Given the description of an element on the screen output the (x, y) to click on. 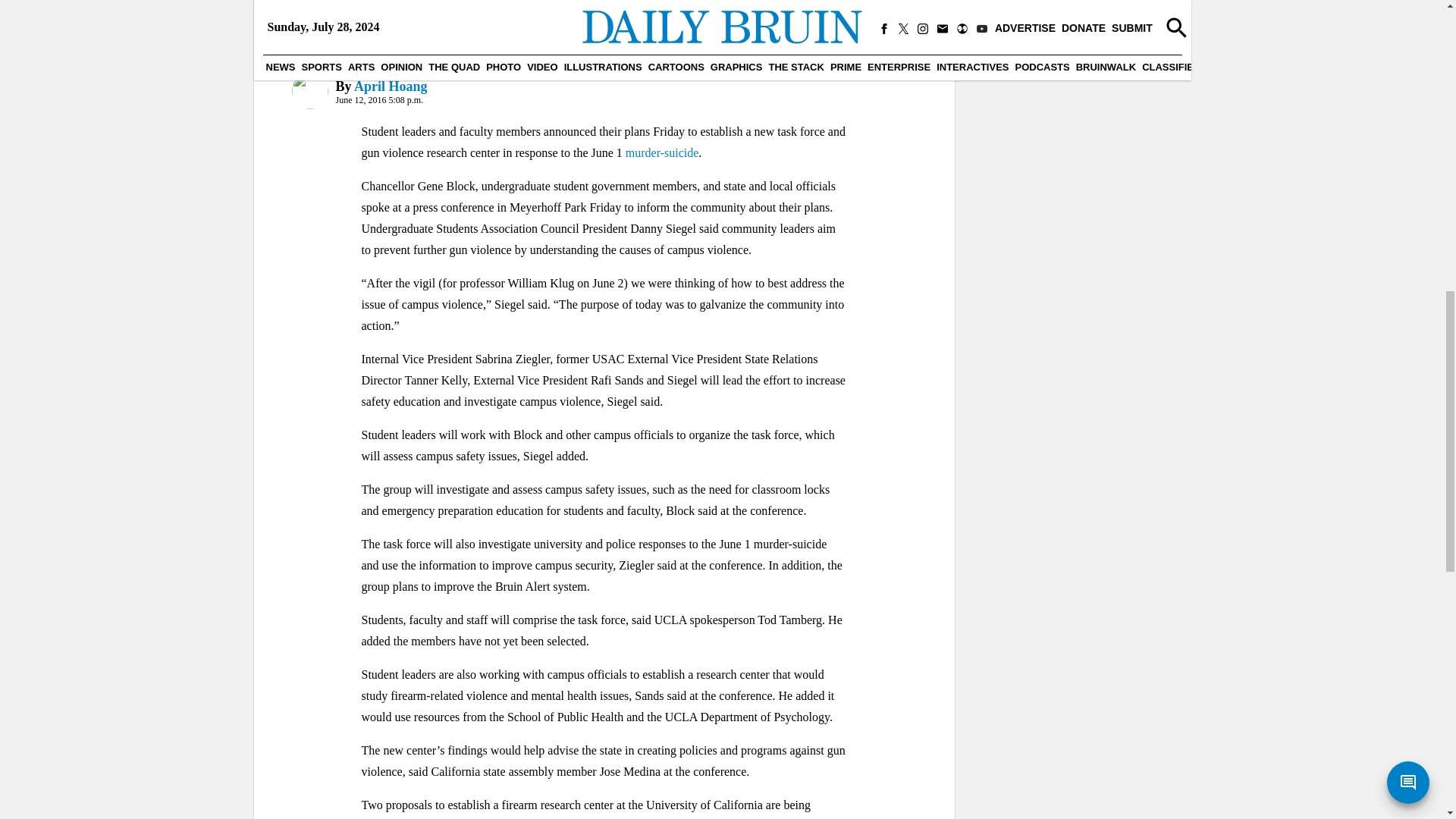
April Hoang (390, 86)
murder-suicide (662, 152)
